Given the description of an element on the screen output the (x, y) to click on. 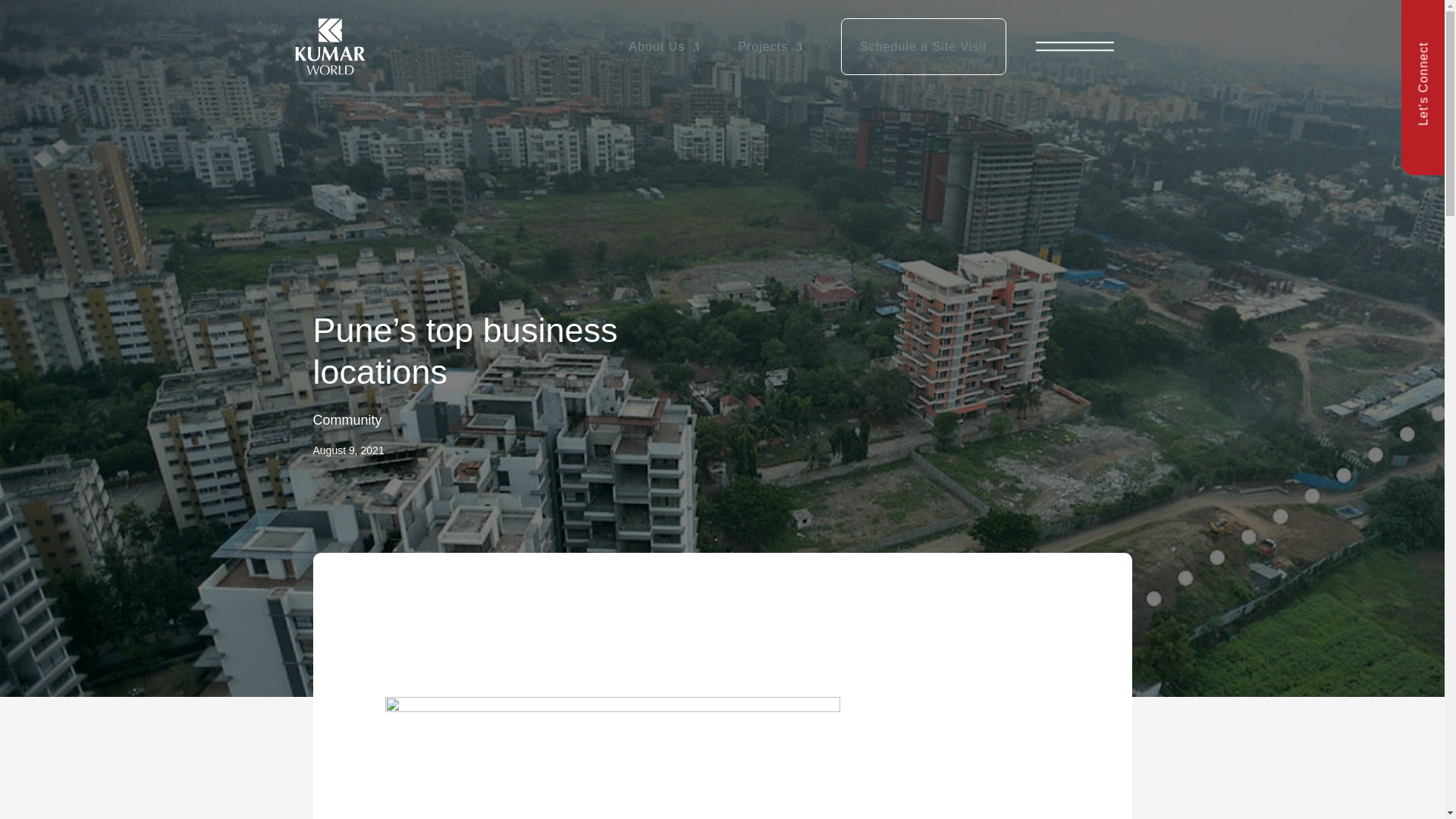
Projects (770, 46)
Community (347, 419)
Schedule a Site Visit (923, 46)
About Us (664, 46)
